Given the description of an element on the screen output the (x, y) to click on. 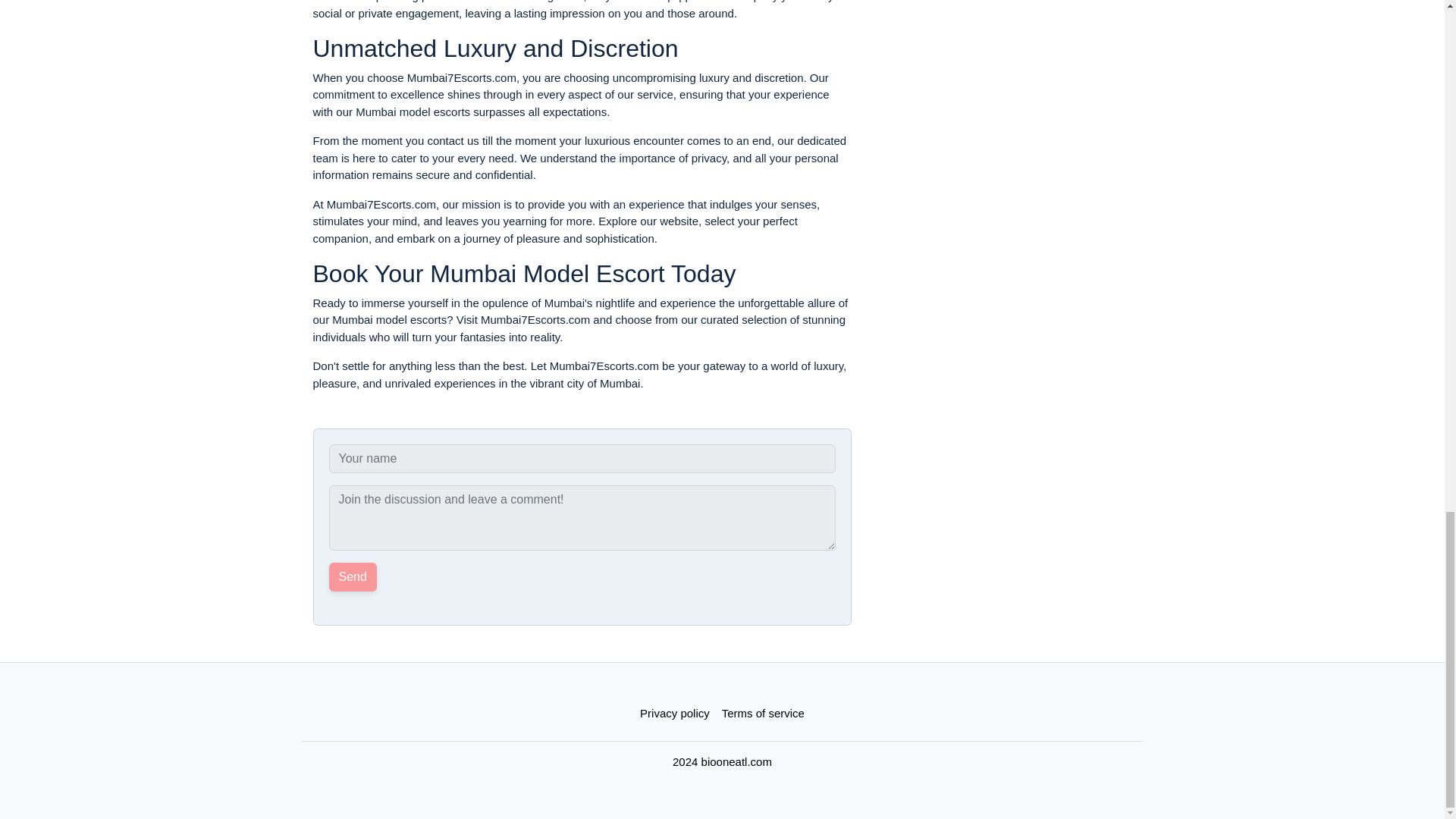
Send (353, 576)
Terms of service (763, 713)
Privacy policy (674, 713)
Send (353, 576)
